Given the description of an element on the screen output the (x, y) to click on. 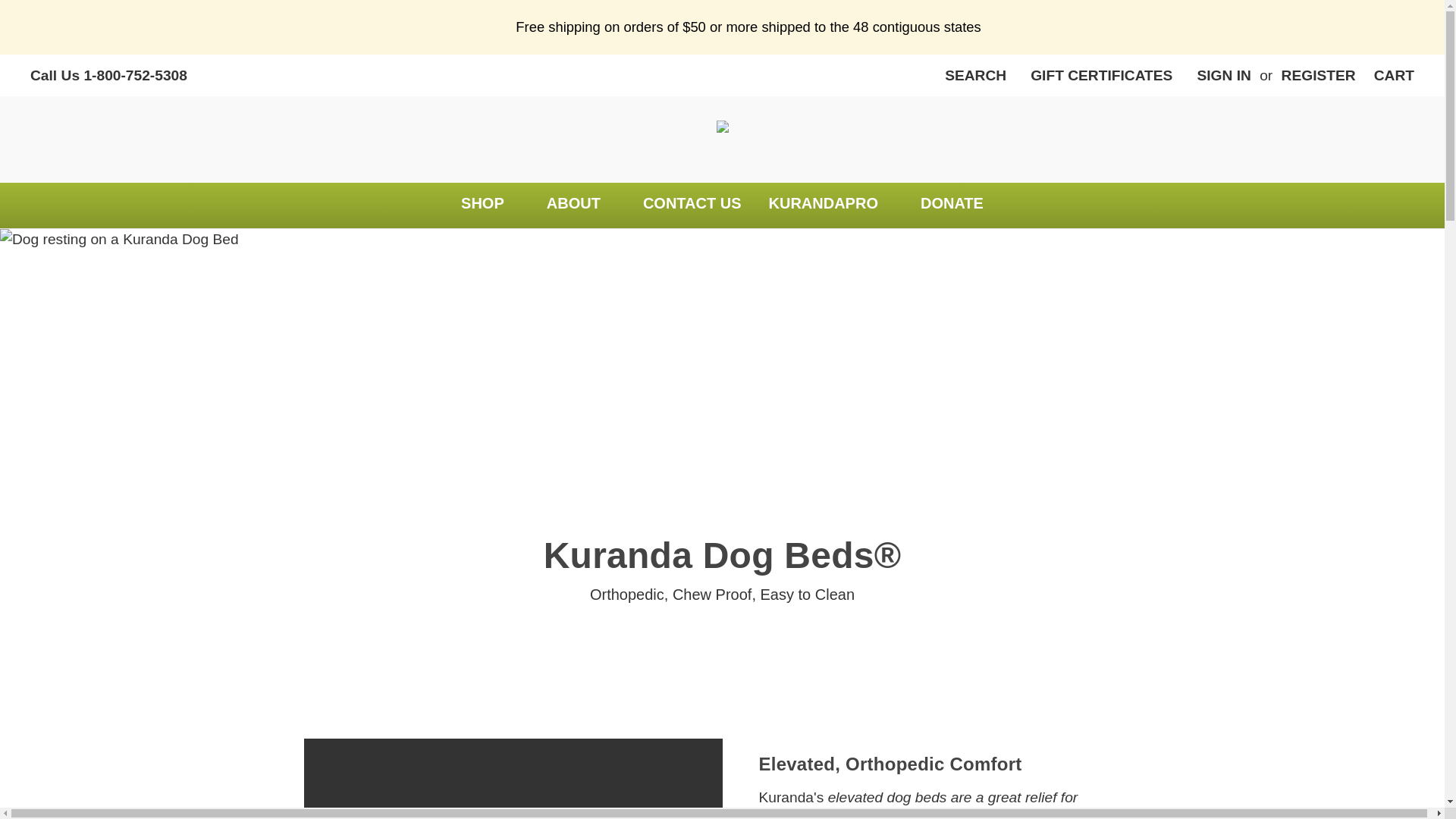
ABOUT (580, 205)
REGISTER (1318, 75)
CART (1393, 75)
Chew Proof (712, 594)
DONATE (952, 205)
SEARCH (975, 75)
Call Us 1-800-752-5308 (108, 75)
CONTACT US (691, 205)
SIGN IN (1223, 75)
KURANDAPRO (831, 205)
GIFT CERTIFICATES (1101, 75)
SHOP (489, 205)
